Given the description of an element on the screen output the (x, y) to click on. 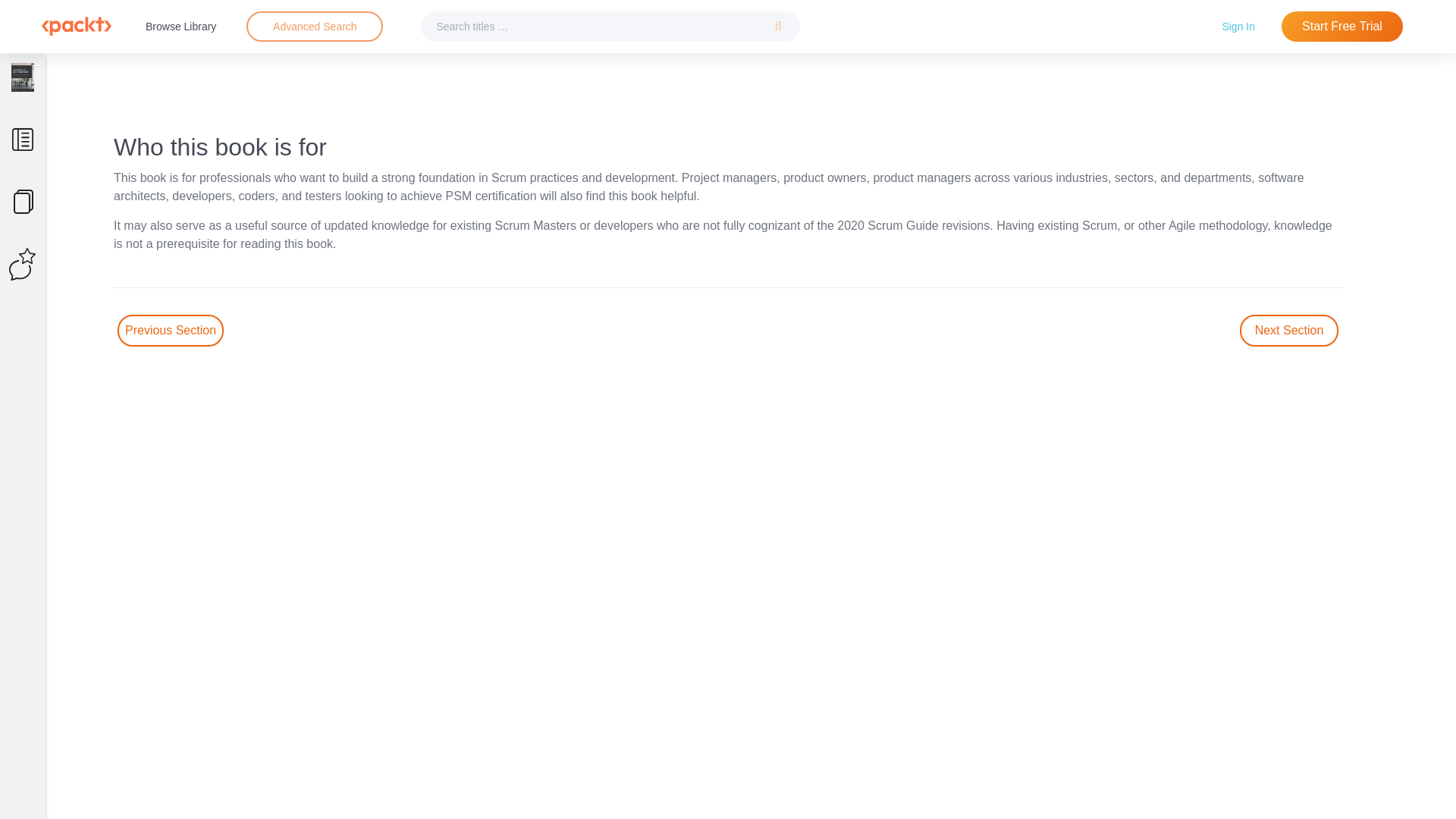
Start Free Trial (1342, 26)
Advanced Search (314, 26)
Sign In (1238, 26)
Browse Library (180, 26)
Go to next section (1289, 330)
Go to Previous section (170, 330)
Advanced search (314, 26)
Advanced Search (315, 26)
